Given the description of an element on the screen output the (x, y) to click on. 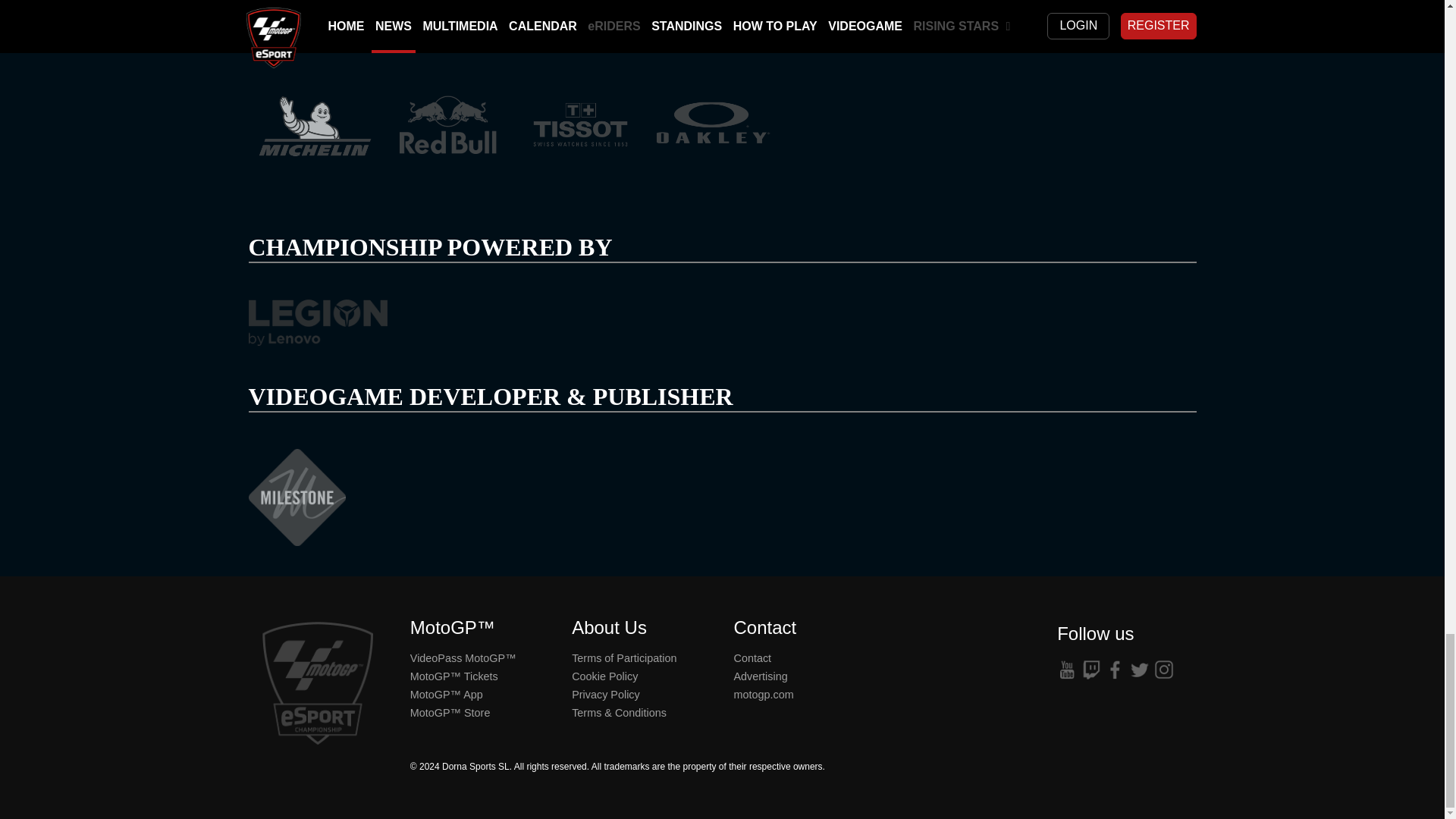
Contact (752, 657)
Privacy Policy (606, 694)
Cookie Policy (604, 676)
Advertising (760, 676)
Terms of Participation (624, 657)
motogp.com (763, 694)
